Given the description of an element on the screen output the (x, y) to click on. 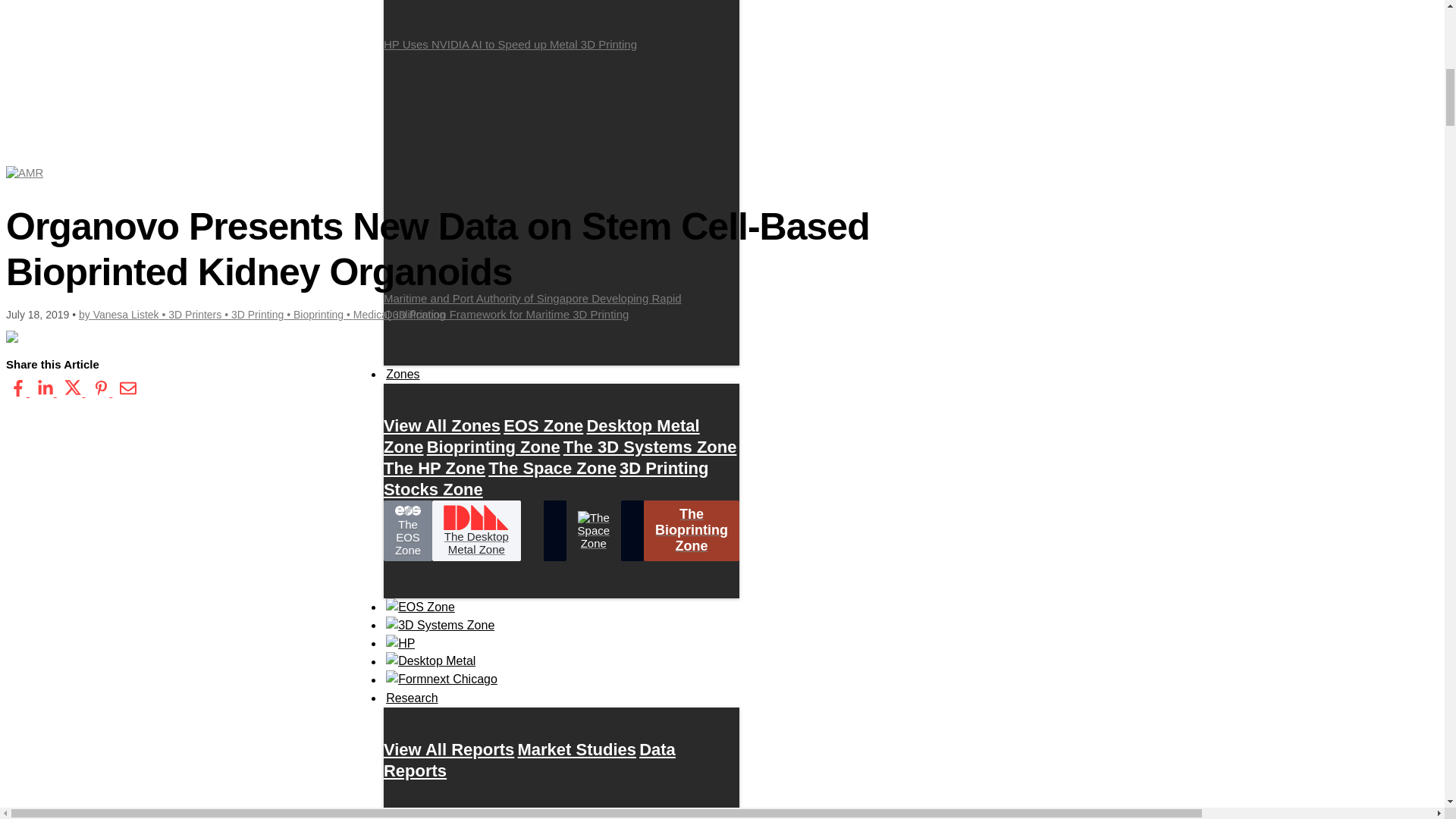
EOS Zone (543, 425)
HP Uses NVIDIA AI to Speed up Metal 3D Printing (561, 26)
View All Zones (442, 425)
The Space Zone (551, 467)
Desktop Metal Zone (542, 436)
3D Printing Stocks Zone (545, 478)
The Desktop Metal Zone (475, 530)
Bioprinting Zone (493, 446)
The HP Zone (434, 467)
Zones (403, 374)
The 3D Systems Zone (649, 446)
